Given the description of an element on the screen output the (x, y) to click on. 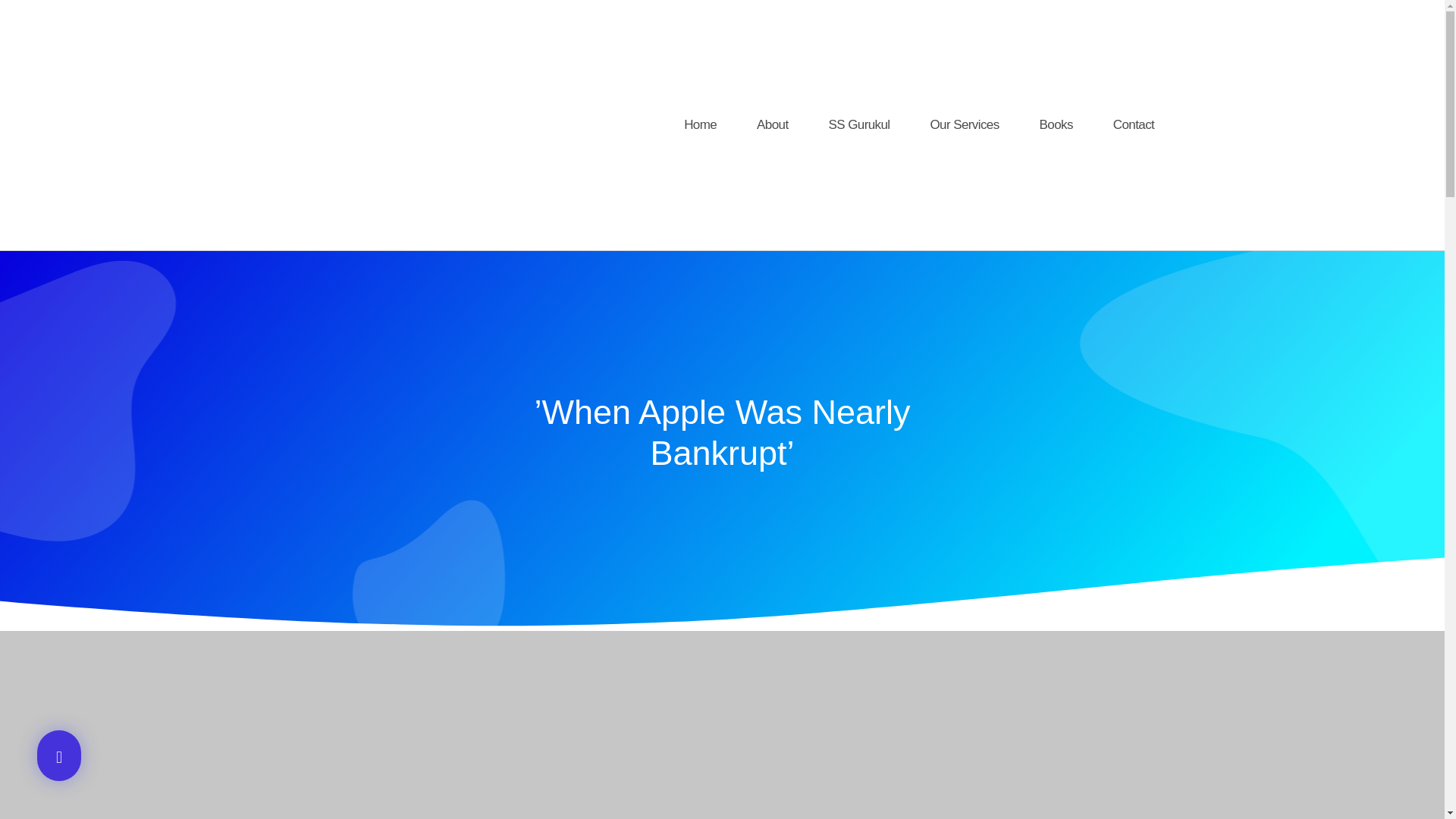
SS Gurukul (858, 124)
Books (1056, 124)
Our Services (964, 124)
Home (699, 124)
About (772, 124)
